Given the description of an element on the screen output the (x, y) to click on. 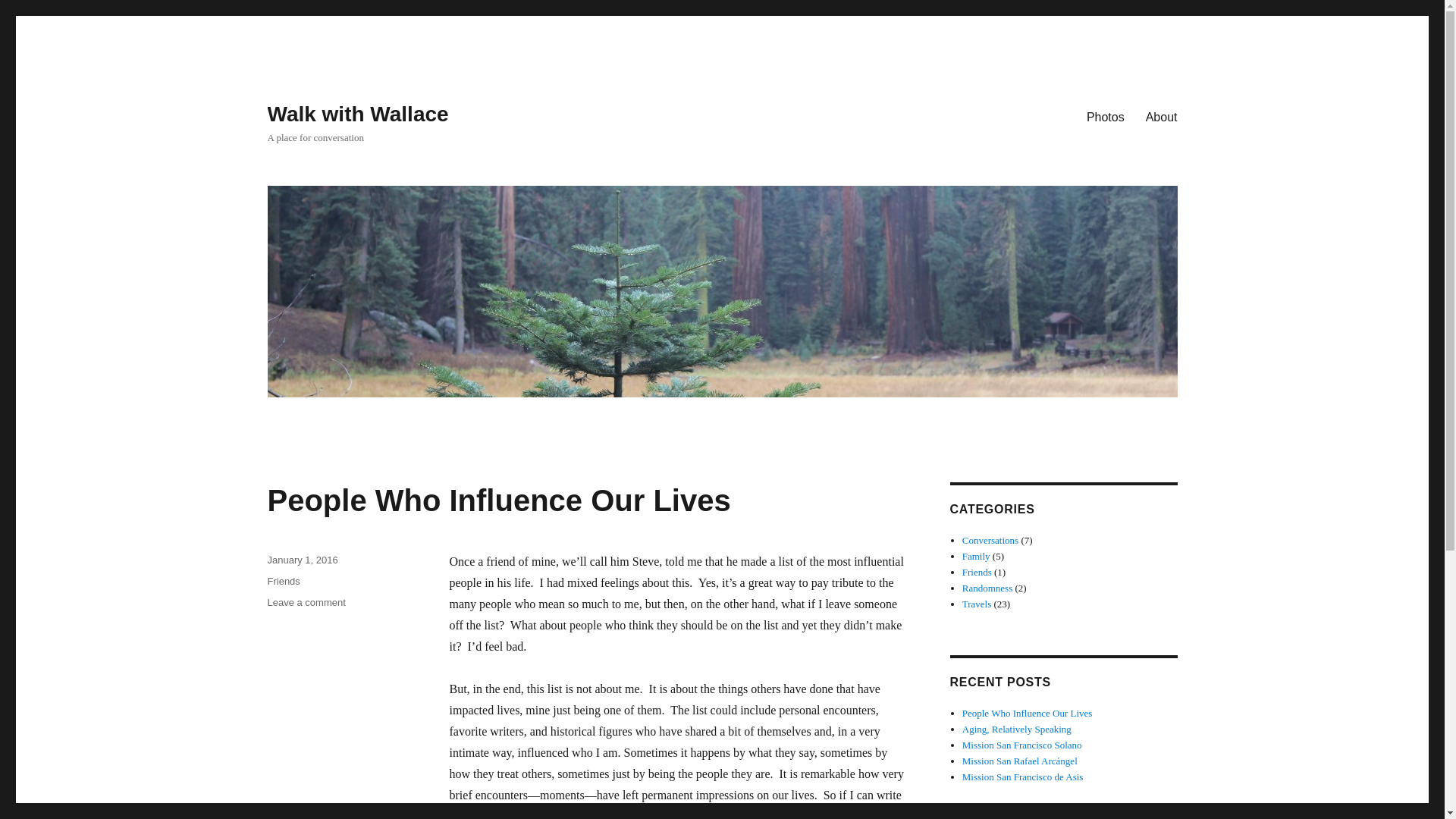
Friends (282, 581)
Photos (1105, 116)
Mission San Francisco de Asis (1022, 776)
Walk with Wallace (305, 602)
People Who Influence Our Lives (357, 114)
Travels (498, 500)
Randomness (976, 603)
Family (986, 587)
People Who Influence Our Lives (976, 555)
